Given the description of an element on the screen output the (x, y) to click on. 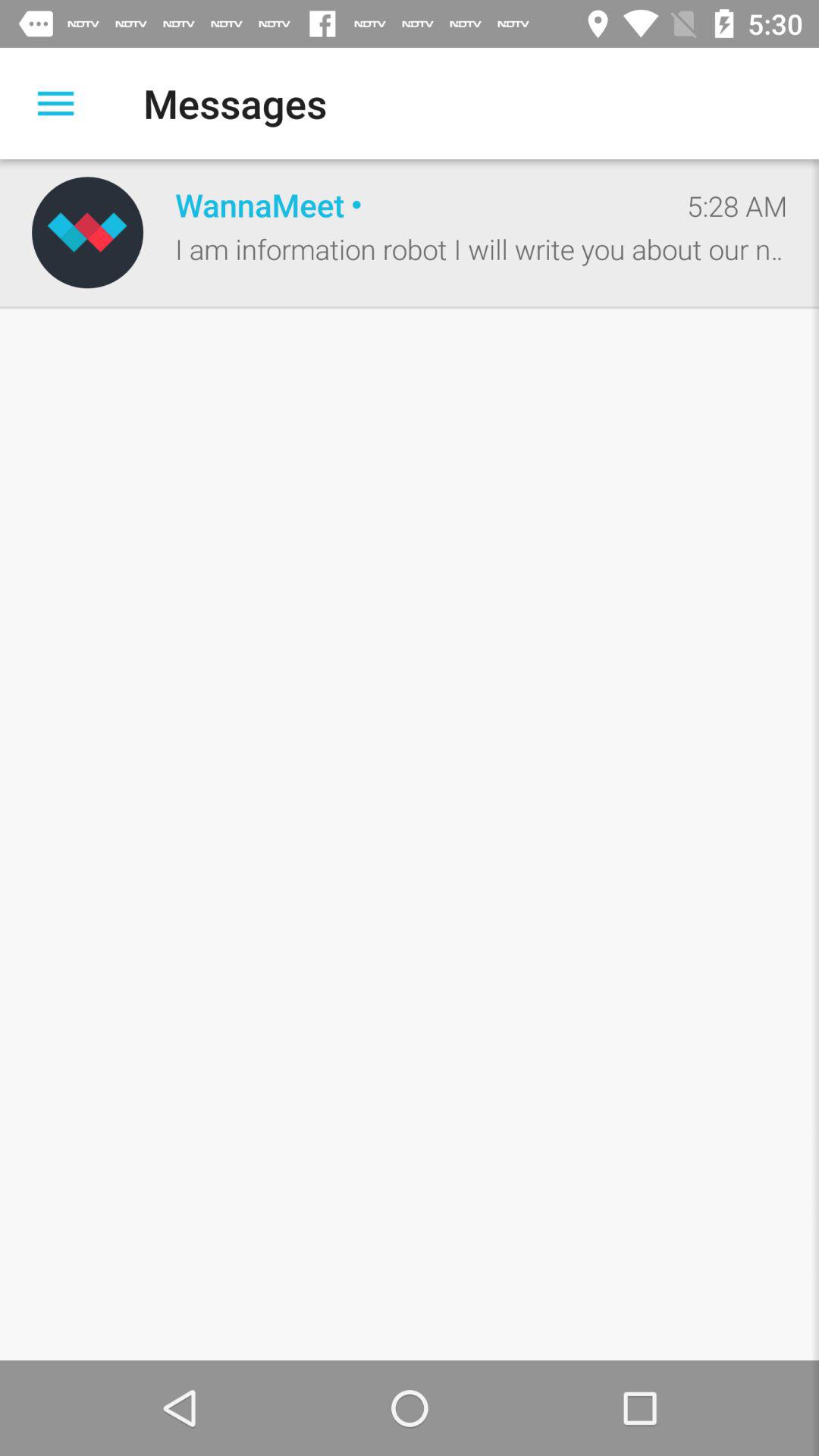
turn off i am information (481, 248)
